Given the description of an element on the screen output the (x, y) to click on. 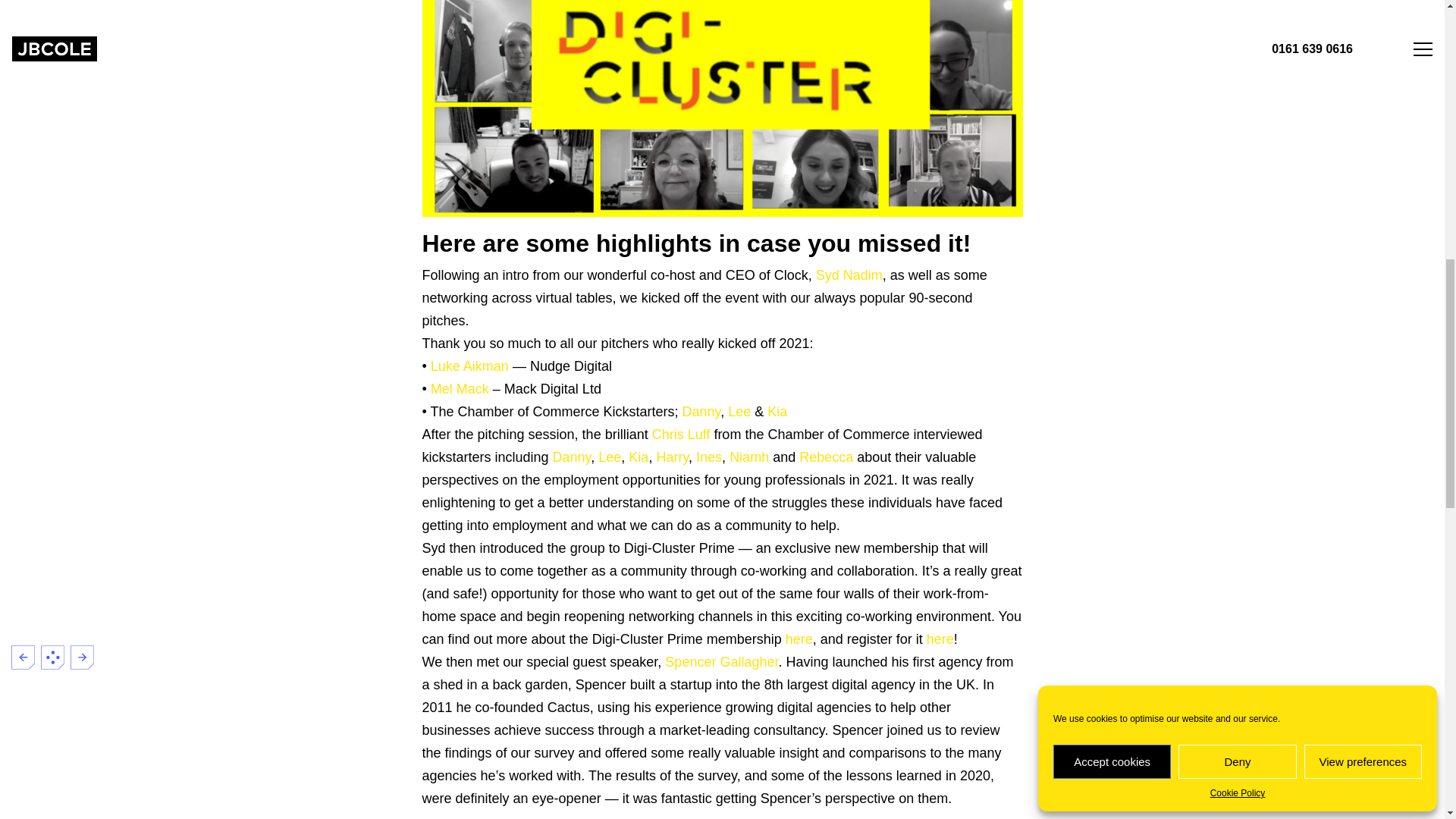
Lee (609, 457)
Danny (701, 411)
Syd Nadim (848, 274)
Lee (739, 411)
Kia (777, 411)
Kia (637, 457)
Danny (572, 457)
Luke Aikman (469, 365)
Chris Luff (681, 434)
Harry (672, 457)
Mel Mack (459, 388)
